Given the description of an element on the screen output the (x, y) to click on. 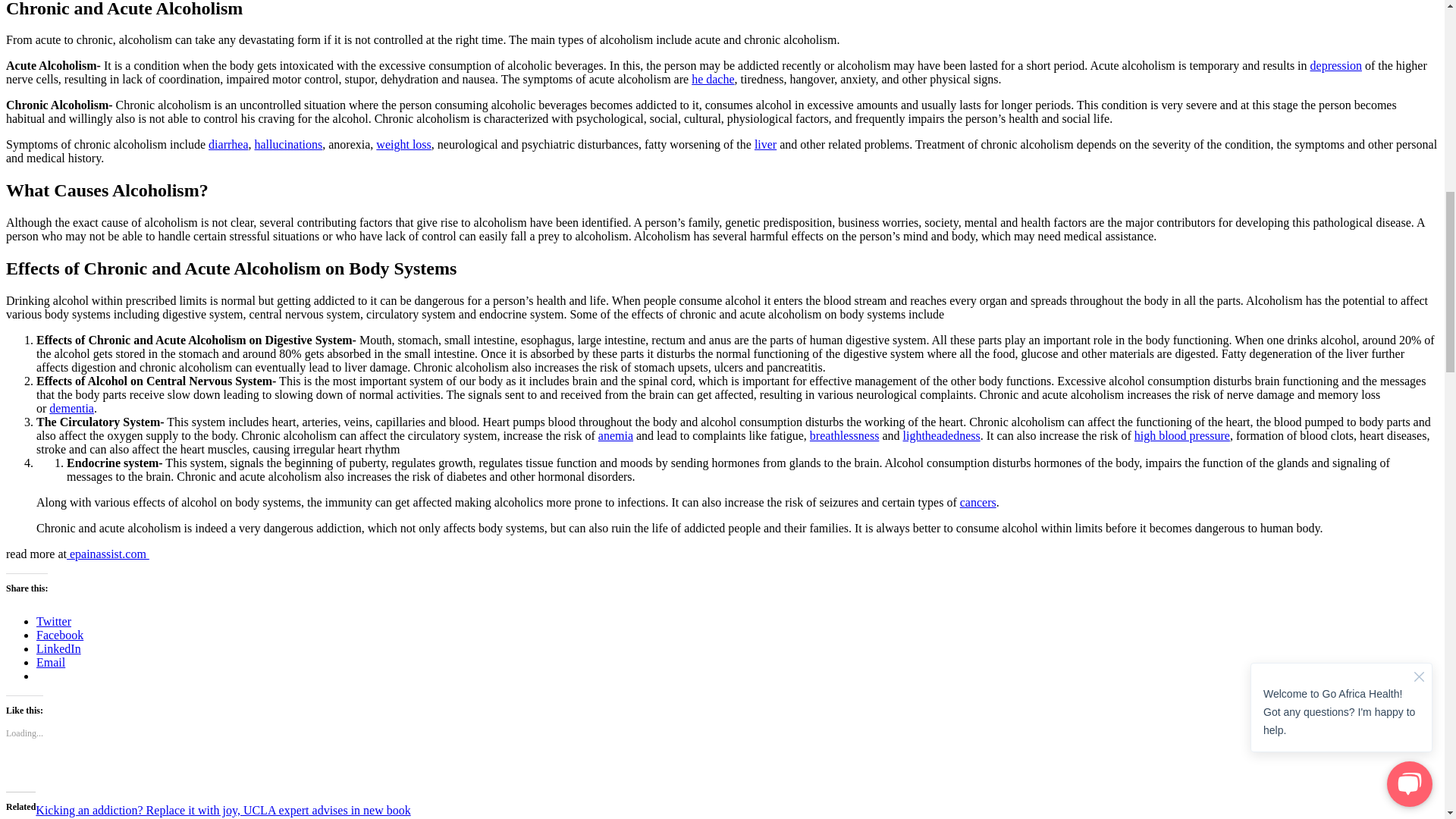
diarrhea (227, 144)
Click to share on Twitter (53, 621)
Click to share on LinkedIn (58, 648)
Click to share on Facebook (59, 634)
depression (1335, 65)
he dache (712, 78)
Click to email a link to a friend (50, 662)
hallucinations (287, 144)
weight loss (402, 144)
liver (765, 144)
